Given the description of an element on the screen output the (x, y) to click on. 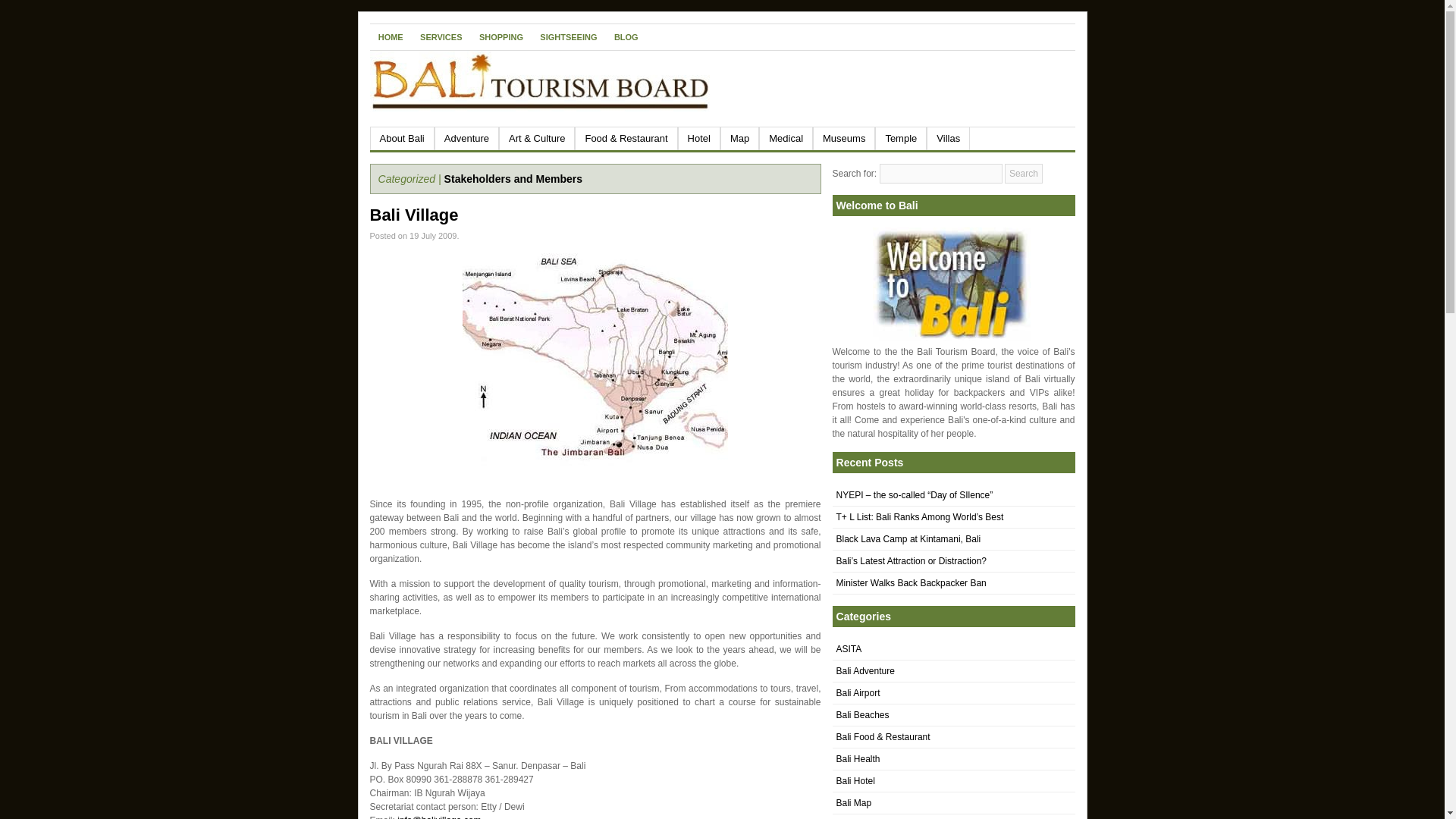
Stakeholders and Members (513, 178)
BLOG (625, 36)
Bali Health (857, 758)
About Bali (401, 138)
HOME (390, 36)
Medical (785, 138)
Bali Hotel (855, 780)
Museums (843, 138)
Search (1023, 173)
Bali Tourism Board (950, 284)
ASITA (848, 648)
Hotel (699, 138)
Permanent Link to Bali Village (413, 214)
Adventure (466, 138)
Map (739, 138)
